Given the description of an element on the screen output the (x, y) to click on. 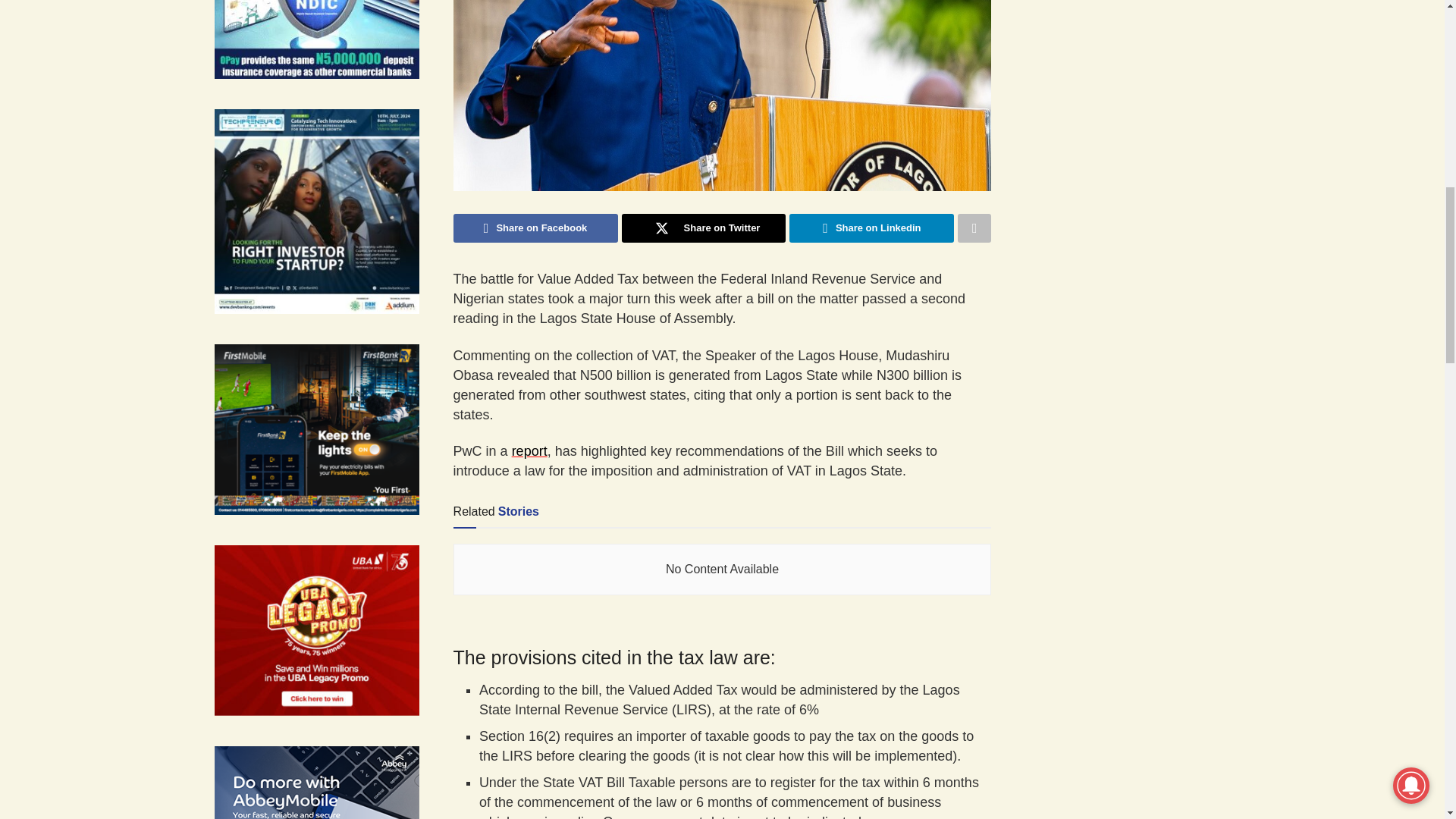
Advertisement (1138, 61)
